Given the description of an element on the screen output the (x, y) to click on. 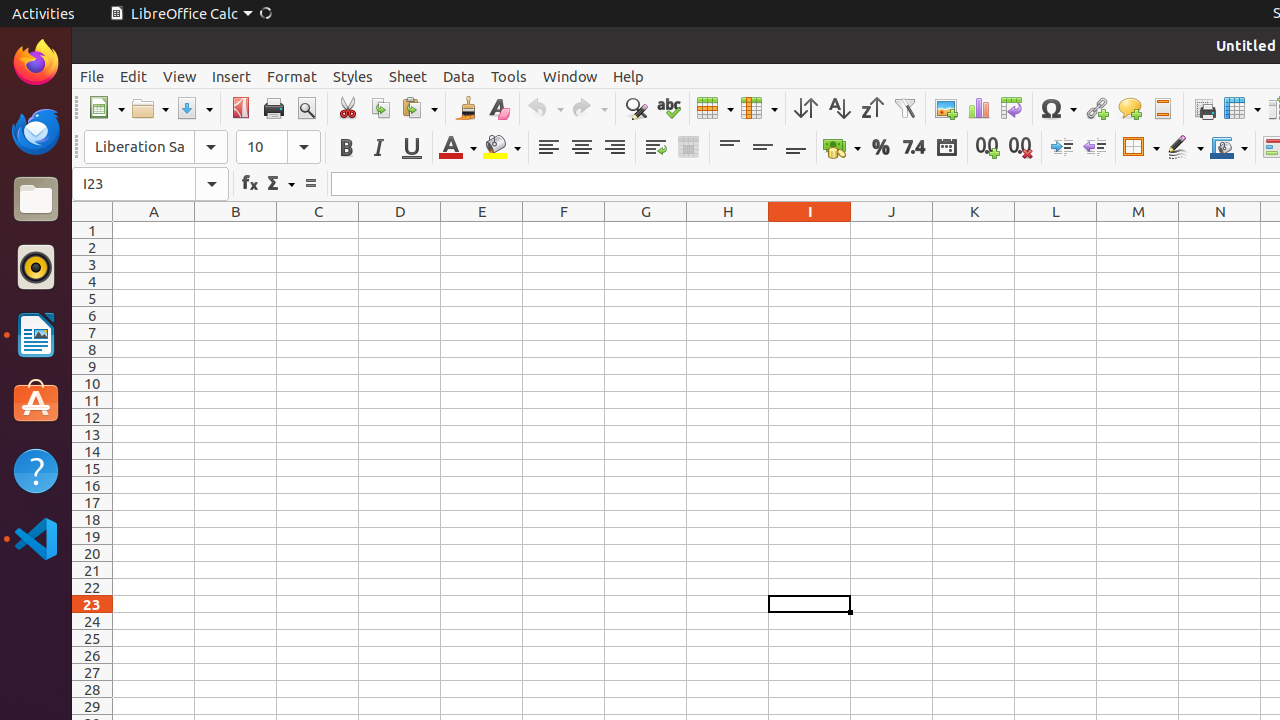
Border Style Element type: push-button (1185, 147)
Cut Element type: push-button (347, 108)
Delete Decimal Place Element type: push-button (1020, 147)
